Given the description of an element on the screen output the (x, y) to click on. 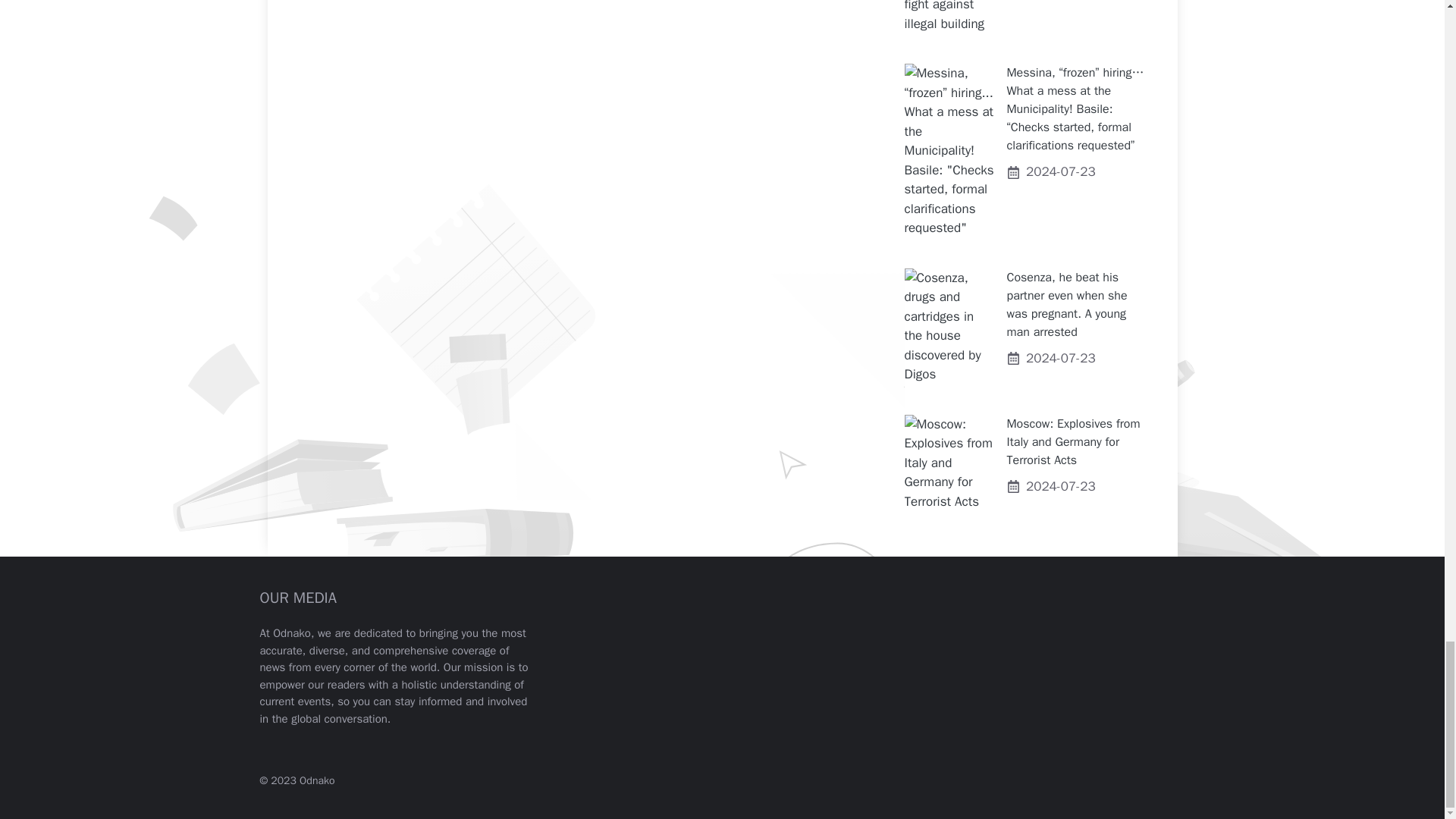
Moscow: Explosives from Italy and Germany for Terrorist Acts (1073, 441)
